Given the description of an element on the screen output the (x, y) to click on. 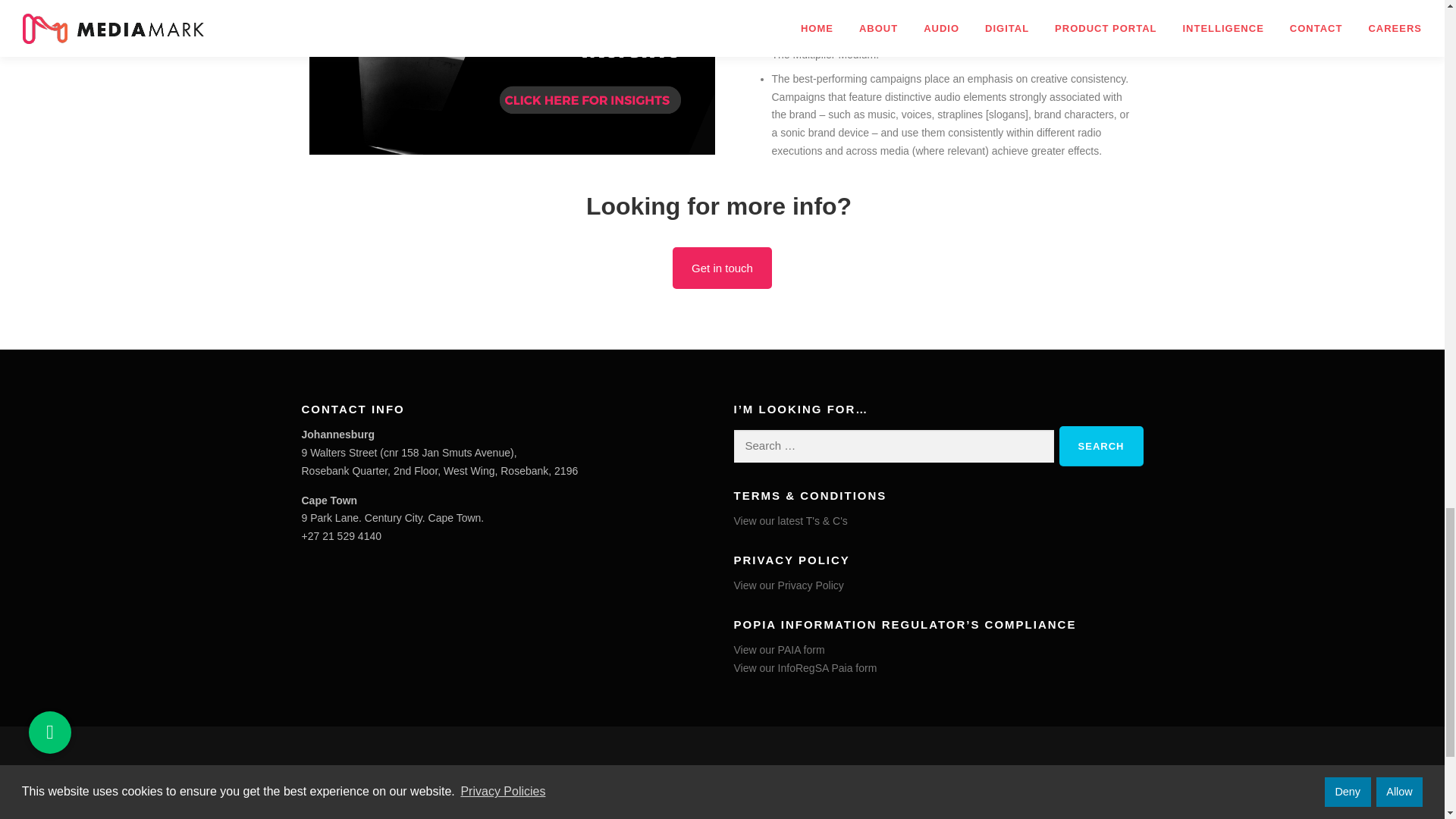
View our Privacy Policy (788, 585)
View our InfoRegSA Paia form (805, 667)
View our PAIA form (779, 649)
Search (1100, 445)
Search for: (893, 445)
Get in touch (721, 268)
Search (1100, 445)
Search (1100, 445)
